Given the description of an element on the screen output the (x, y) to click on. 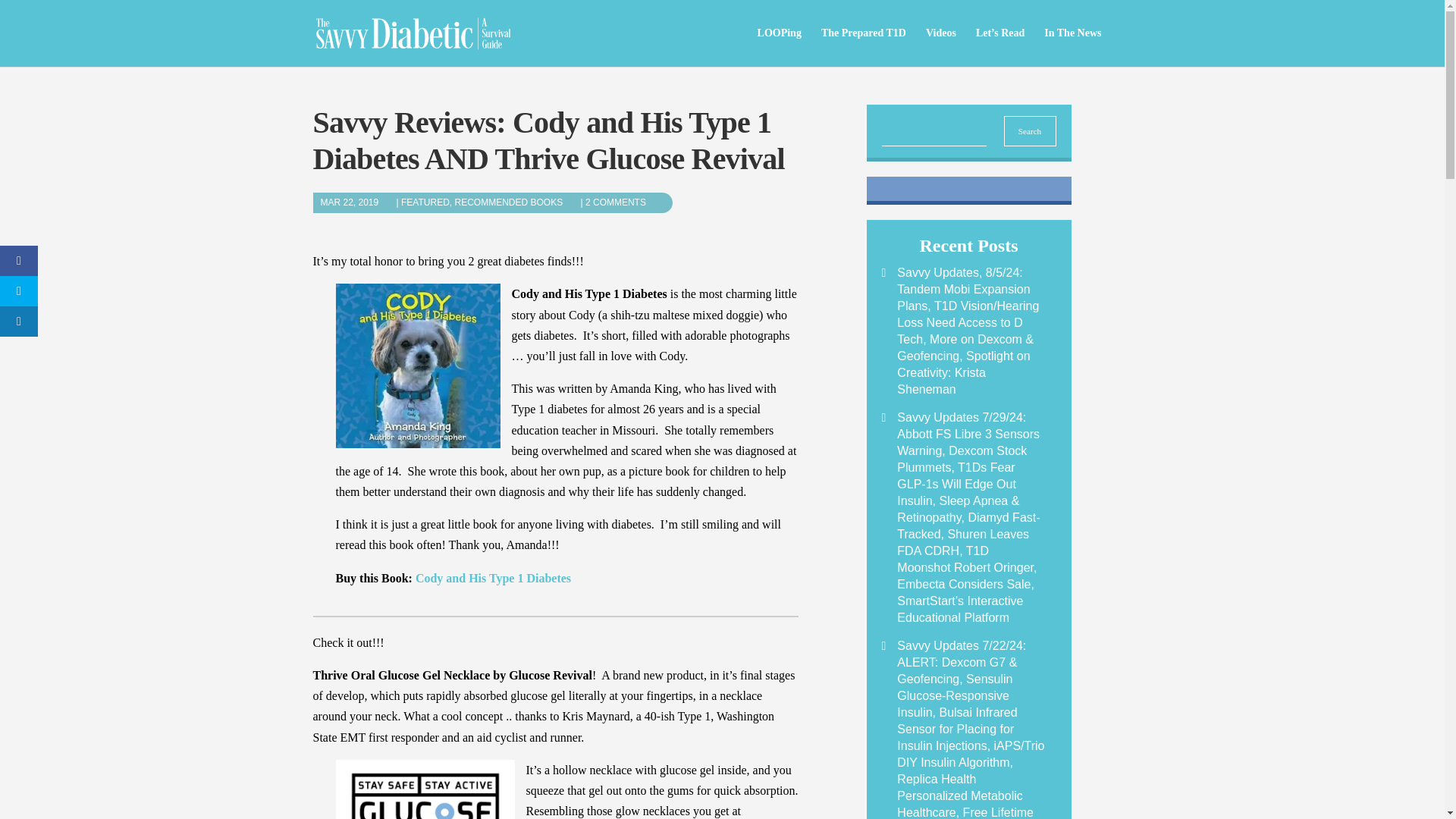
2 COMMENTS (623, 202)
The Prepared T1D (863, 46)
RECOMMENDED BOOKS (516, 202)
FEATURED (425, 202)
Search (1030, 131)
Cody and His Type 1 Diabetes (492, 577)
In The News (1071, 46)
LOOPing (779, 46)
Search (1030, 131)
